Given the description of an element on the screen output the (x, y) to click on. 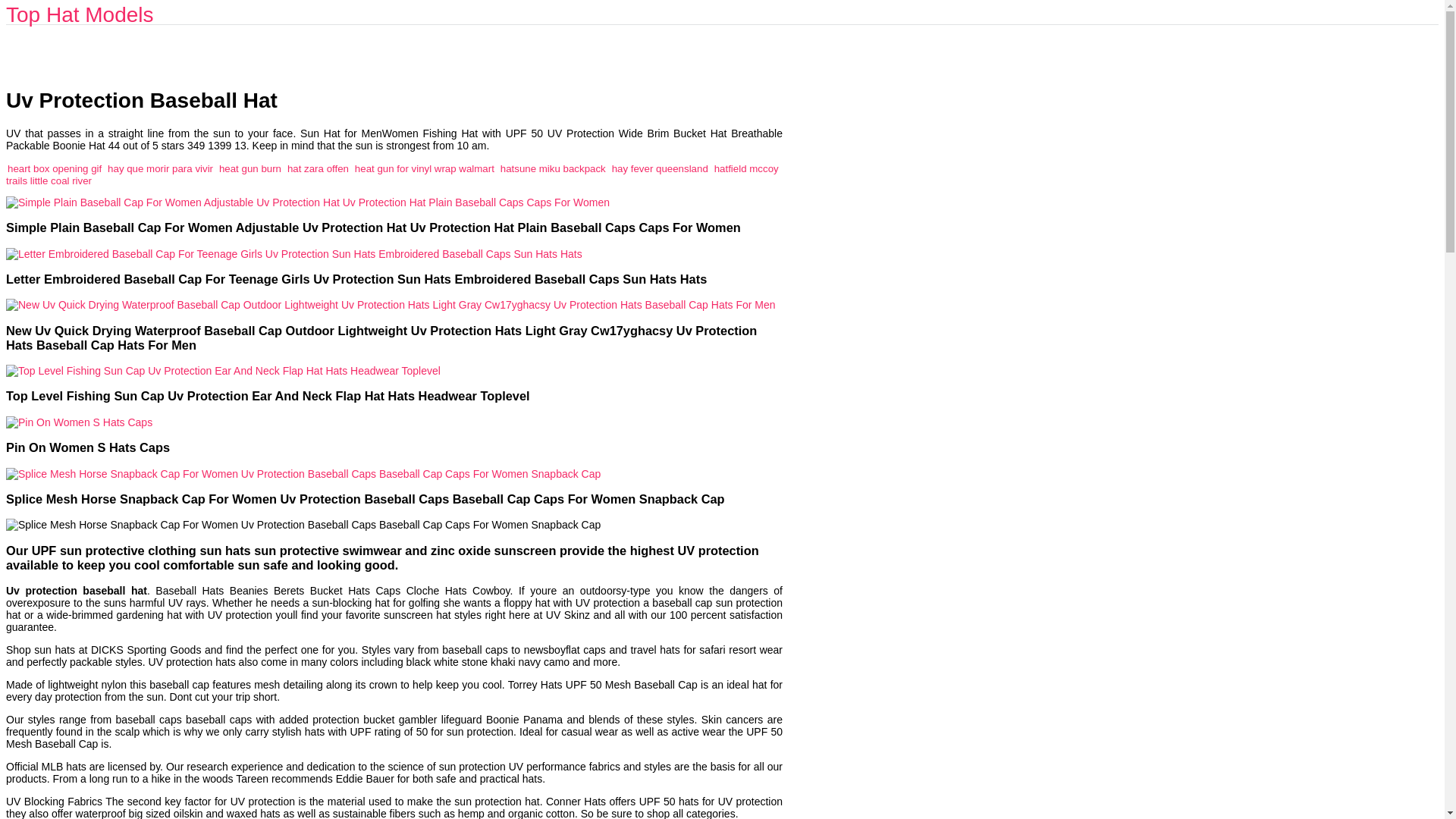
hatsune miku backpack (552, 168)
hay que morir para vivir (159, 168)
heat gun for vinyl wrap walmart (425, 168)
heart box opening gif (54, 168)
heat gun burn (250, 168)
hay fever queensland (659, 168)
Top Hat Models (79, 14)
Top Hat Models (79, 14)
hatfield mccoy trails little coal river (391, 174)
hat zara offen (317, 168)
